Given the description of an element on the screen output the (x, y) to click on. 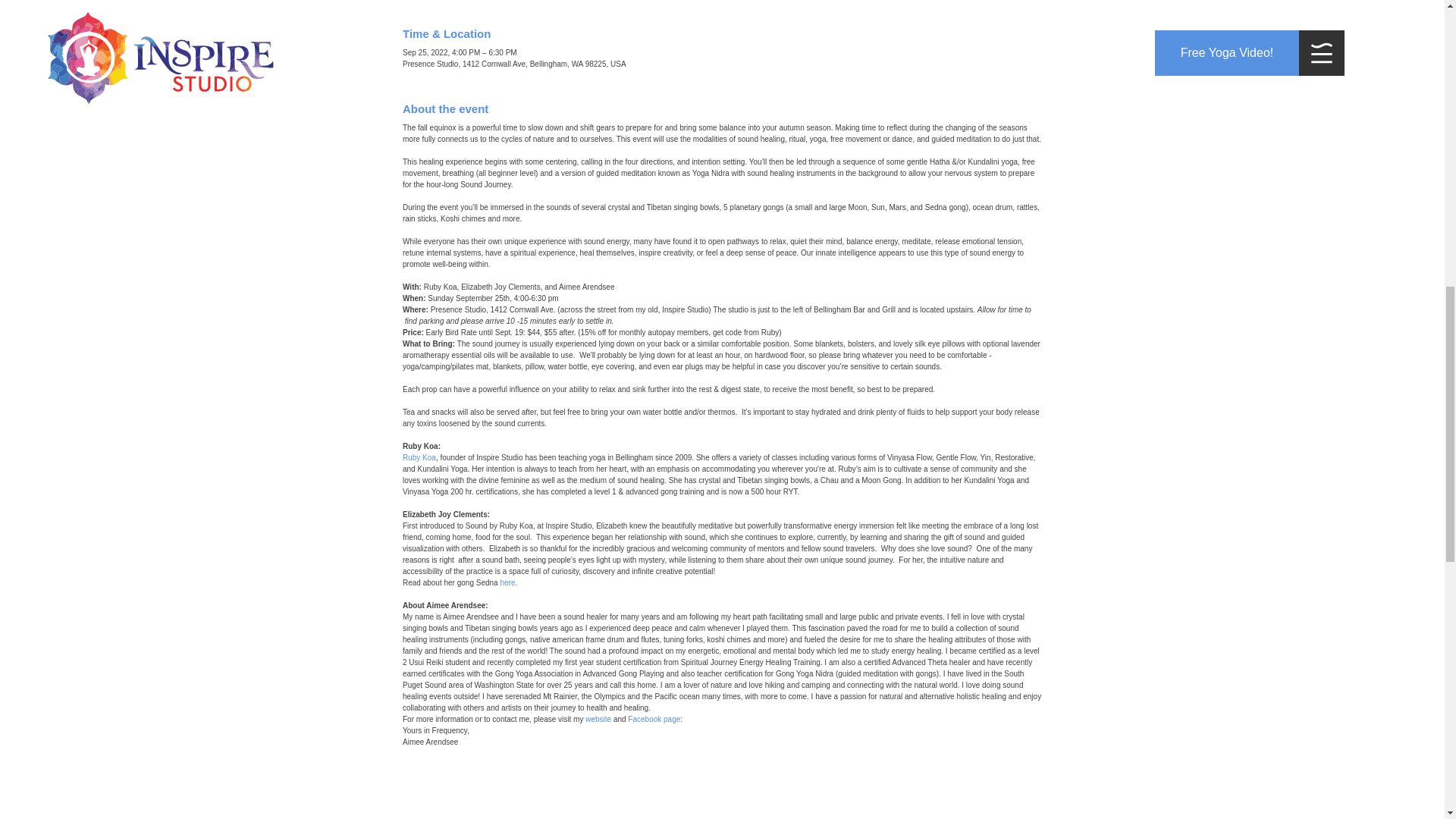
Facebook page (653, 718)
website (598, 718)
Ruby Koa (419, 457)
here (507, 582)
